Given the description of an element on the screen output the (x, y) to click on. 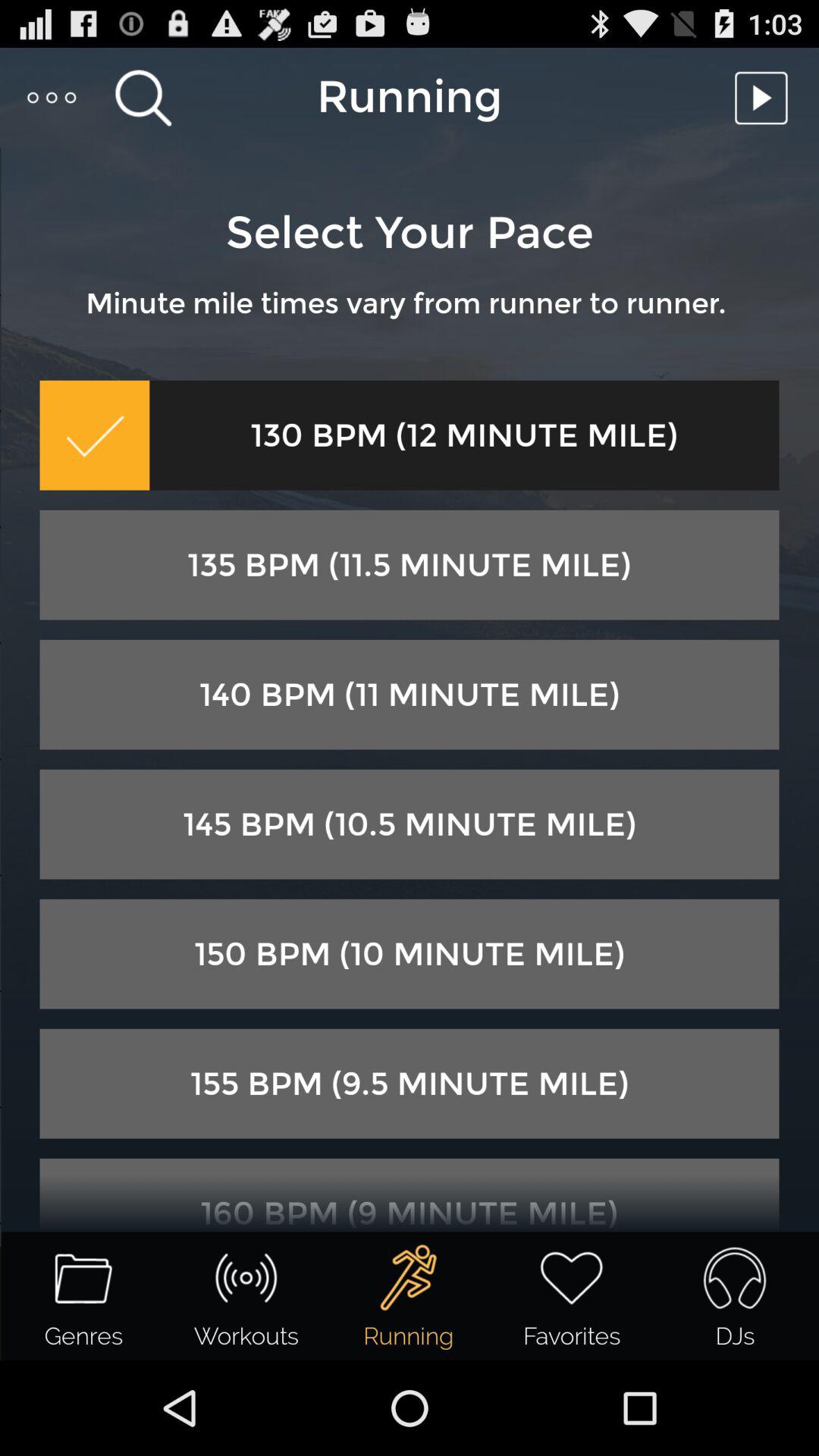
turn off icon above the select your pace (52, 97)
